Given the description of an element on the screen output the (x, y) to click on. 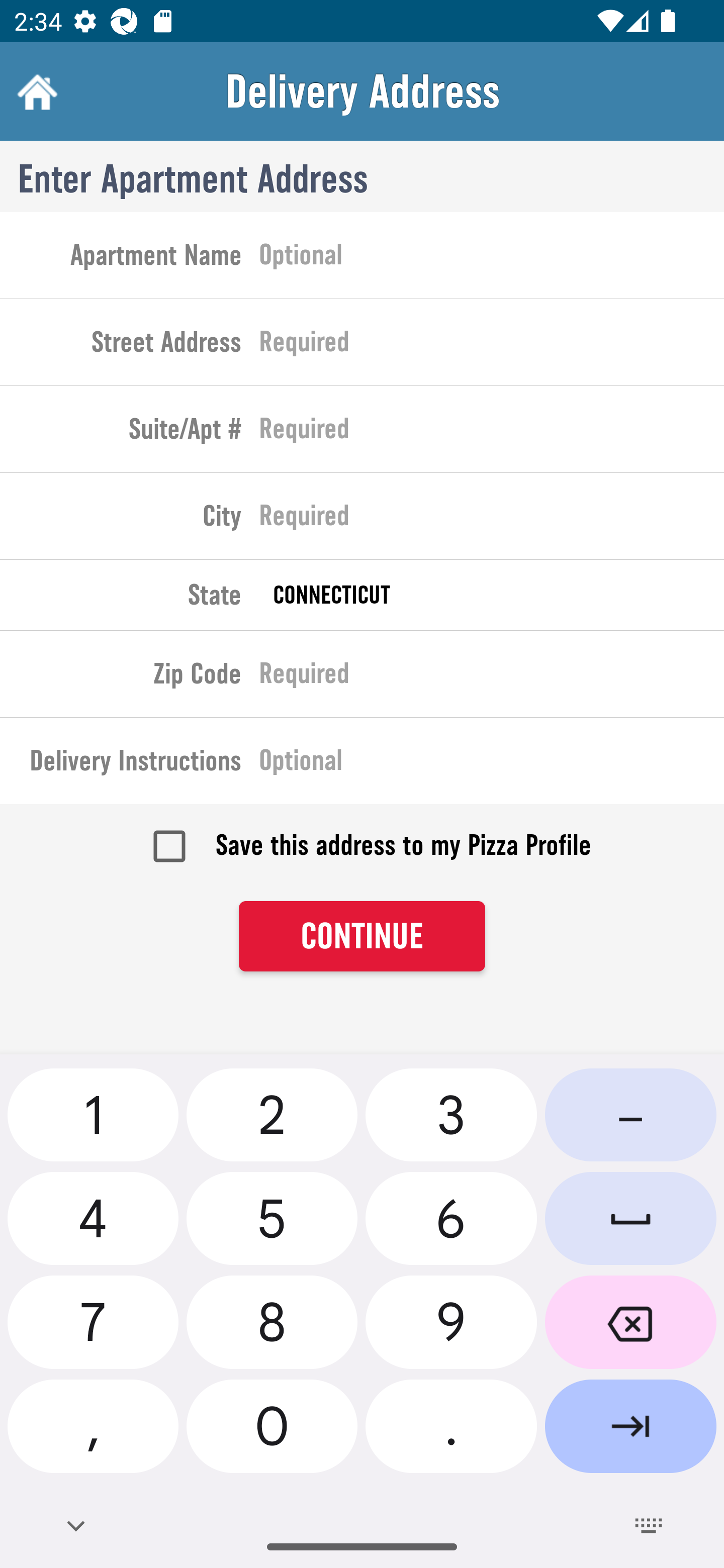
Home (35, 91)
Optional (491, 258)
Required (491, 345)
Required (491, 432)
Required (491, 519)
CONNECTICUT (491, 594)
Required (491, 677)
Optional (491, 764)
CONTINUE (361, 936)
